Given the description of an element on the screen output the (x, y) to click on. 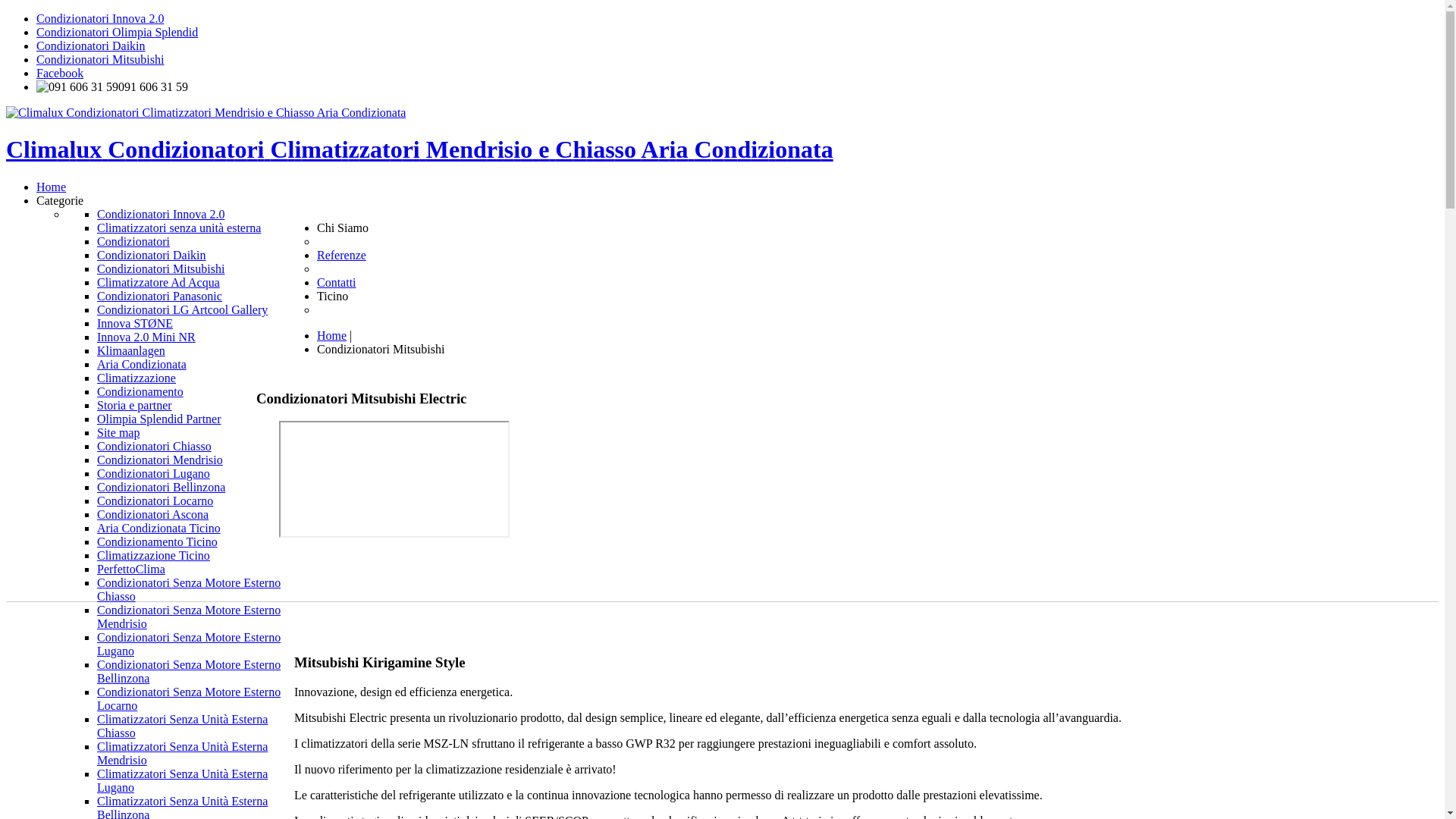
Condizionatori Senza Motore Esterno Mendrisio Element type: text (188, 616)
Condizionatori Element type: text (133, 241)
Condizionamento Ticino Element type: text (157, 541)
Site map Element type: text (118, 432)
Condizionatori Mendrisio Element type: text (159, 459)
Home Element type: text (331, 335)
Olimpia Splendid Partner Element type: text (159, 418)
Categorie Element type: text (59, 200)
Condizionatori Senza Motore Esterno Chiasso Element type: text (188, 589)
Condizionatori Lugano Element type: text (153, 473)
Condizionatori Locarno Element type: text (155, 500)
Contatti Element type: text (336, 282)
Aria Condizionata Element type: text (141, 363)
Chi Siamo Element type: text (342, 227)
Climatizzazione Element type: text (136, 377)
Condizionatori Chiasso Element type: text (154, 445)
Condizionatori Bellinzona Element type: text (161, 486)
Ticino Element type: text (332, 295)
PerfettoClima Element type: text (131, 568)
Condizionatori Mitsubishi Element type: text (99, 59)
Condizionamento Element type: text (140, 391)
Storia e partner Element type: text (134, 404)
Condizionatori Senza Motore Esterno Locarno Element type: text (188, 698)
Innova 2.0 Mini NR Element type: text (146, 336)
Facebook Element type: text (59, 72)
Condizionatori Mitsubishi Element type: text (160, 268)
YouTube video player Element type: hover (394, 478)
Condizionatori LG Artcool Gallery Element type: text (182, 309)
Home Element type: text (50, 186)
Condizionatori Innova 2.0 Element type: text (99, 18)
Condizionatori Senza Motore Esterno Lugano Element type: text (188, 643)
Condizionatori Daikin Element type: text (151, 254)
Condizionatori Olimpia Splendid Element type: text (116, 31)
Aria Condizionata Ticino Element type: text (158, 527)
Condizionatori Daikin Element type: text (90, 45)
Condizionatori Panasonic Element type: text (159, 295)
Climatizzatore Ad Acqua Element type: text (158, 282)
Klimaanlagen Element type: text (131, 350)
Condizionatori Senza Motore Esterno Bellinzona Element type: text (188, 671)
Referenze Element type: text (341, 254)
Condizionatori Innova 2.0 Element type: text (160, 213)
Climatizzazione Ticino Element type: text (153, 555)
Condizionatori Ascona Element type: text (152, 514)
